Given the description of an element on the screen output the (x, y) to click on. 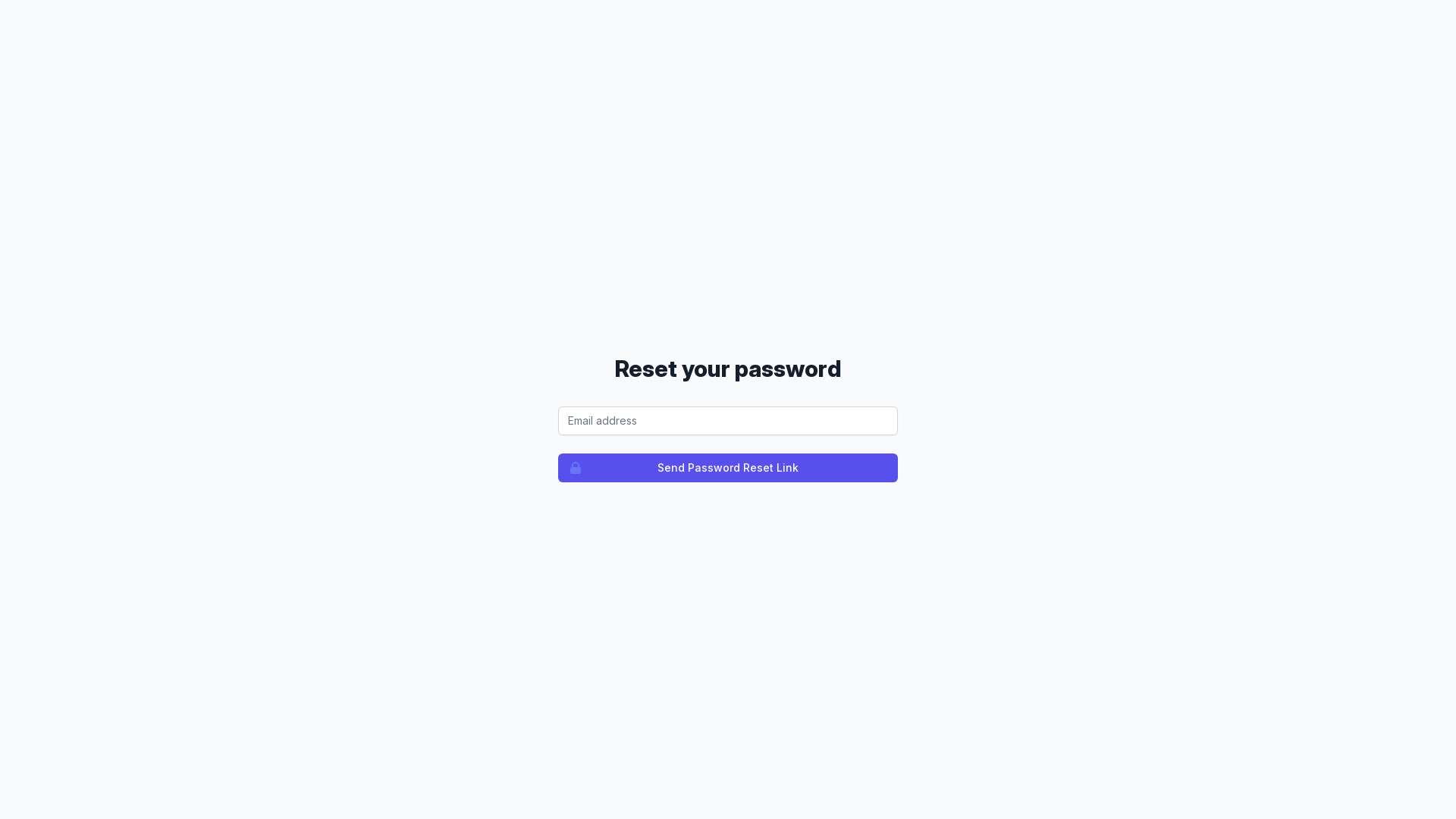
Send Password Reset Link Element type: text (727, 467)
